Given the description of an element on the screen output the (x, y) to click on. 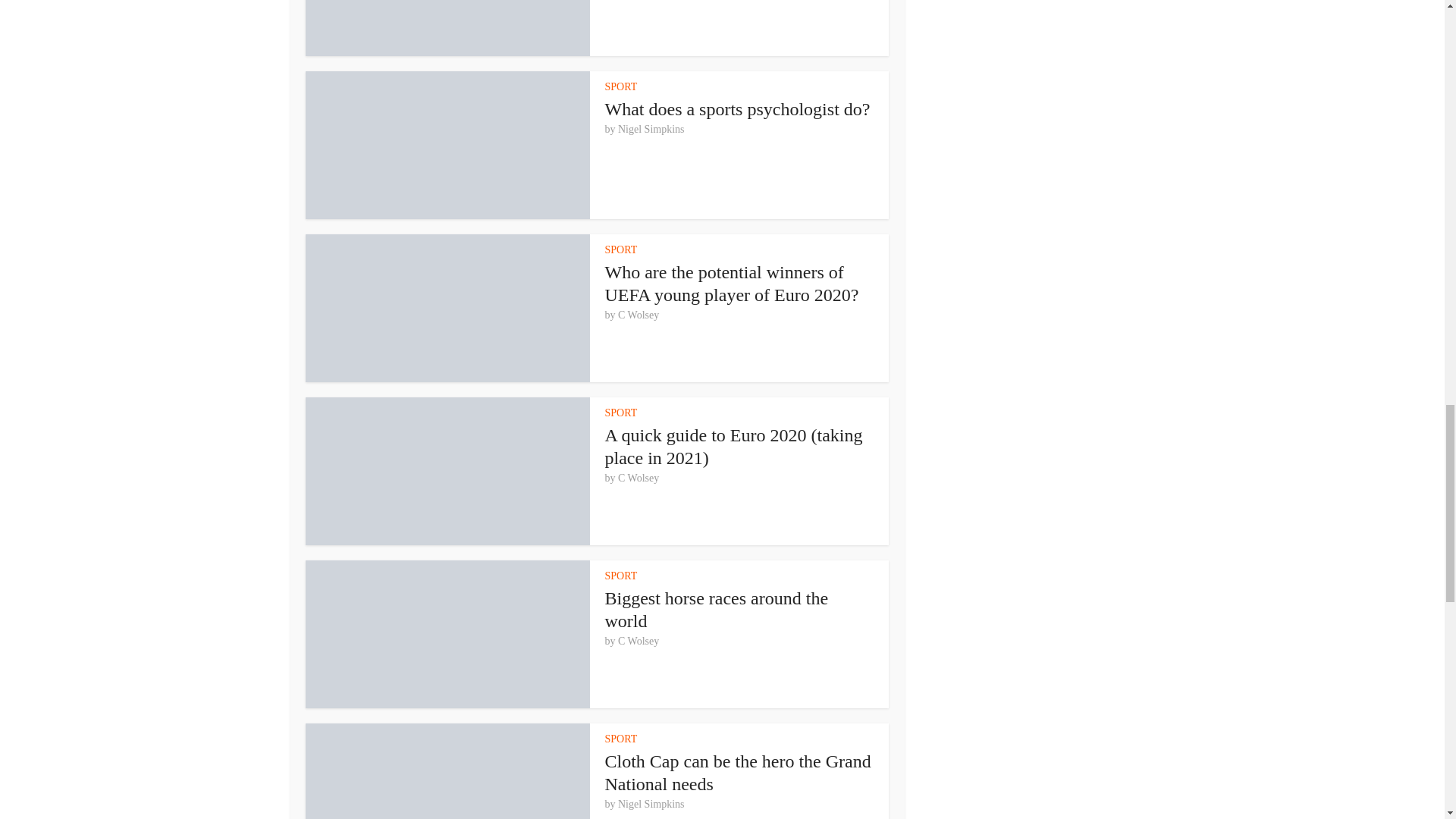
C Wolsey (638, 315)
SPORT (621, 86)
Nigel Simpkins (650, 129)
What does a sports psychologist do? (737, 108)
C Wolsey (638, 478)
Biggest horse races around the world (716, 609)
Cloth Cap can be the hero the Grand National needs (737, 772)
SPORT (621, 412)
SPORT (621, 249)
What does a sports psychologist do? (737, 108)
